Given the description of an element on the screen output the (x, y) to click on. 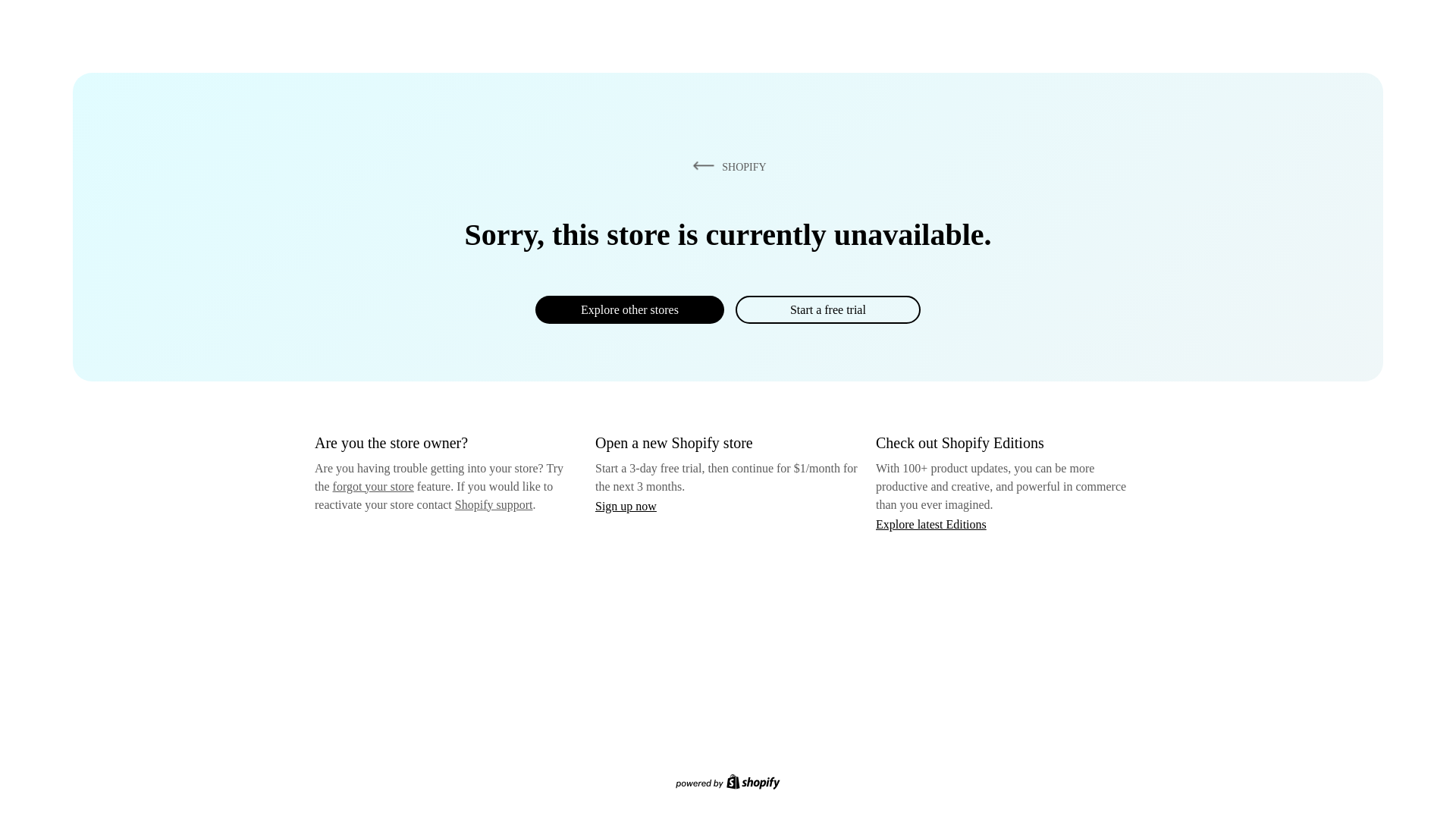
Shopify support (493, 504)
forgot your store (373, 486)
Explore other stores (629, 309)
SHOPIFY (726, 166)
Sign up now (625, 505)
Explore latest Editions (931, 523)
Start a free trial (827, 309)
